Given the description of an element on the screen output the (x, y) to click on. 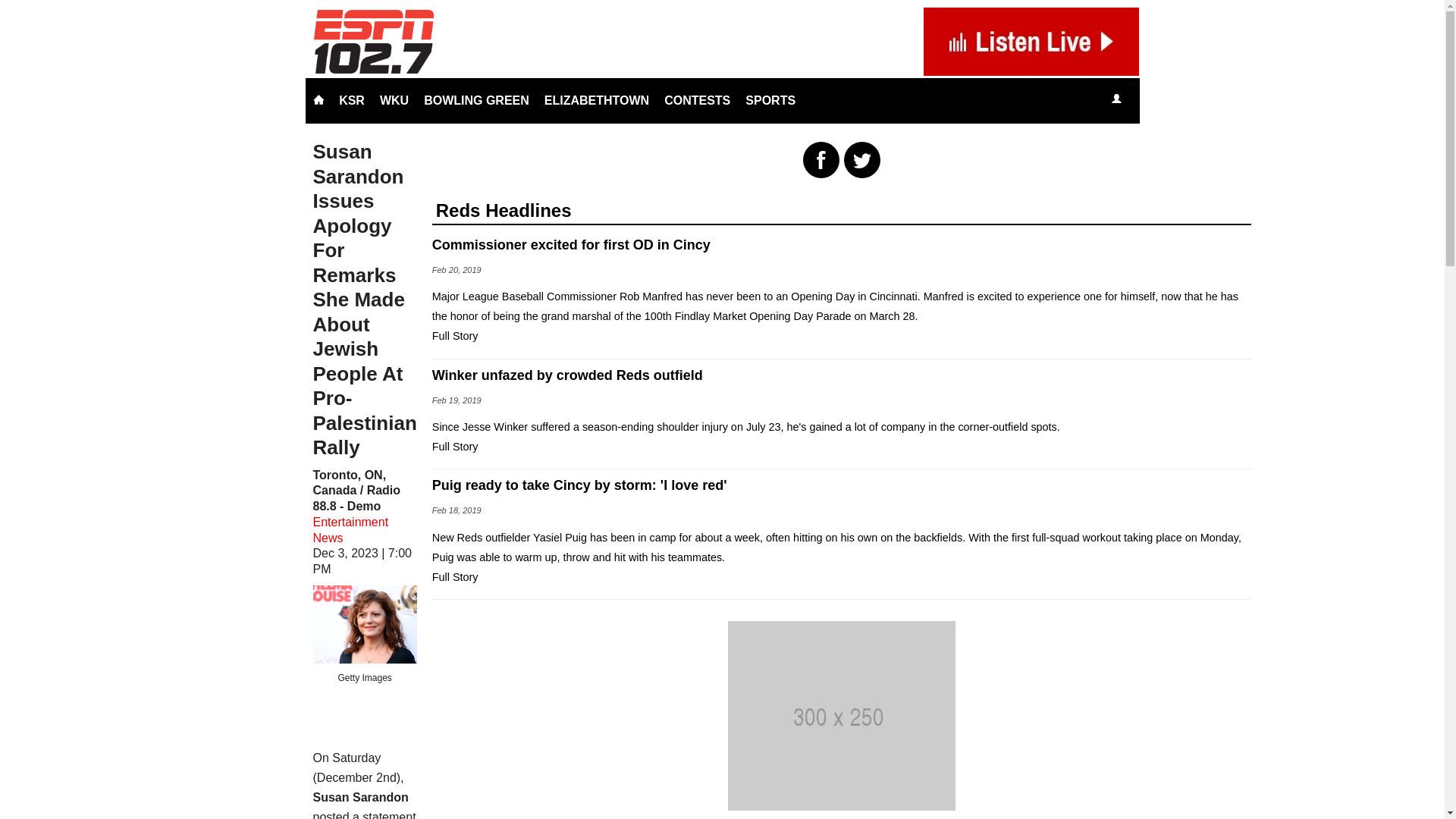
Puig ready to take Cincy by storm: 'I love red' (841, 484)
Full Story (455, 576)
Commissioner excited for first OD in Cincy (841, 244)
Sign In (1116, 99)
HOME (318, 99)
Listen Live (1161, 99)
SPORTS (770, 100)
HOME (317, 100)
Entertainment News (350, 529)
KSR (351, 100)
ELIZABETHTOWN (596, 100)
Full Story (455, 446)
Full Story (455, 336)
Sign In (1115, 100)
Winker unfazed by crowded Reds outfield (841, 375)
